Given the description of an element on the screen output the (x, y) to click on. 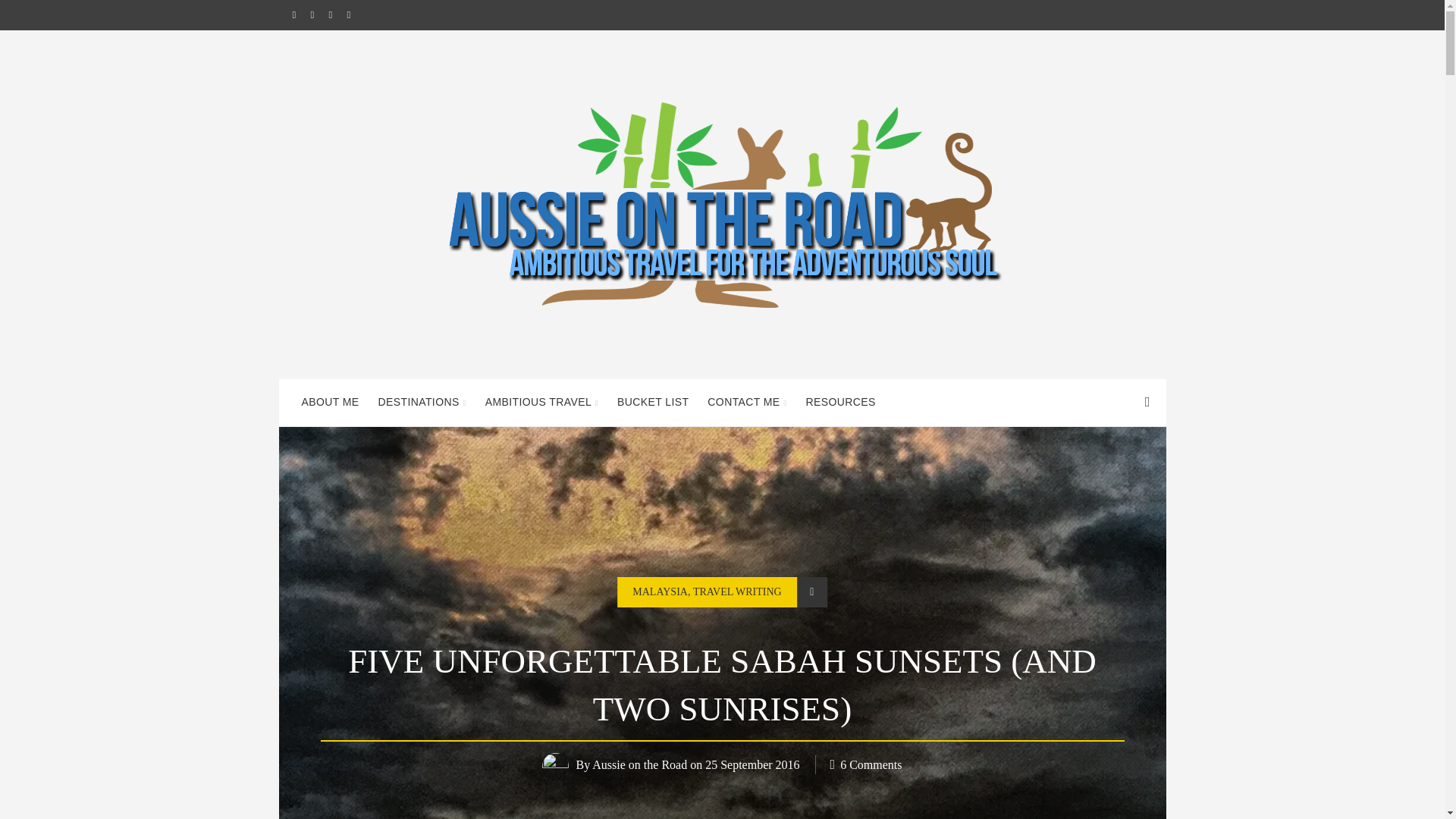
Standard (811, 592)
ABOUT ME (330, 402)
DESTINATIONS (421, 402)
